Given the description of an element on the screen output the (x, y) to click on. 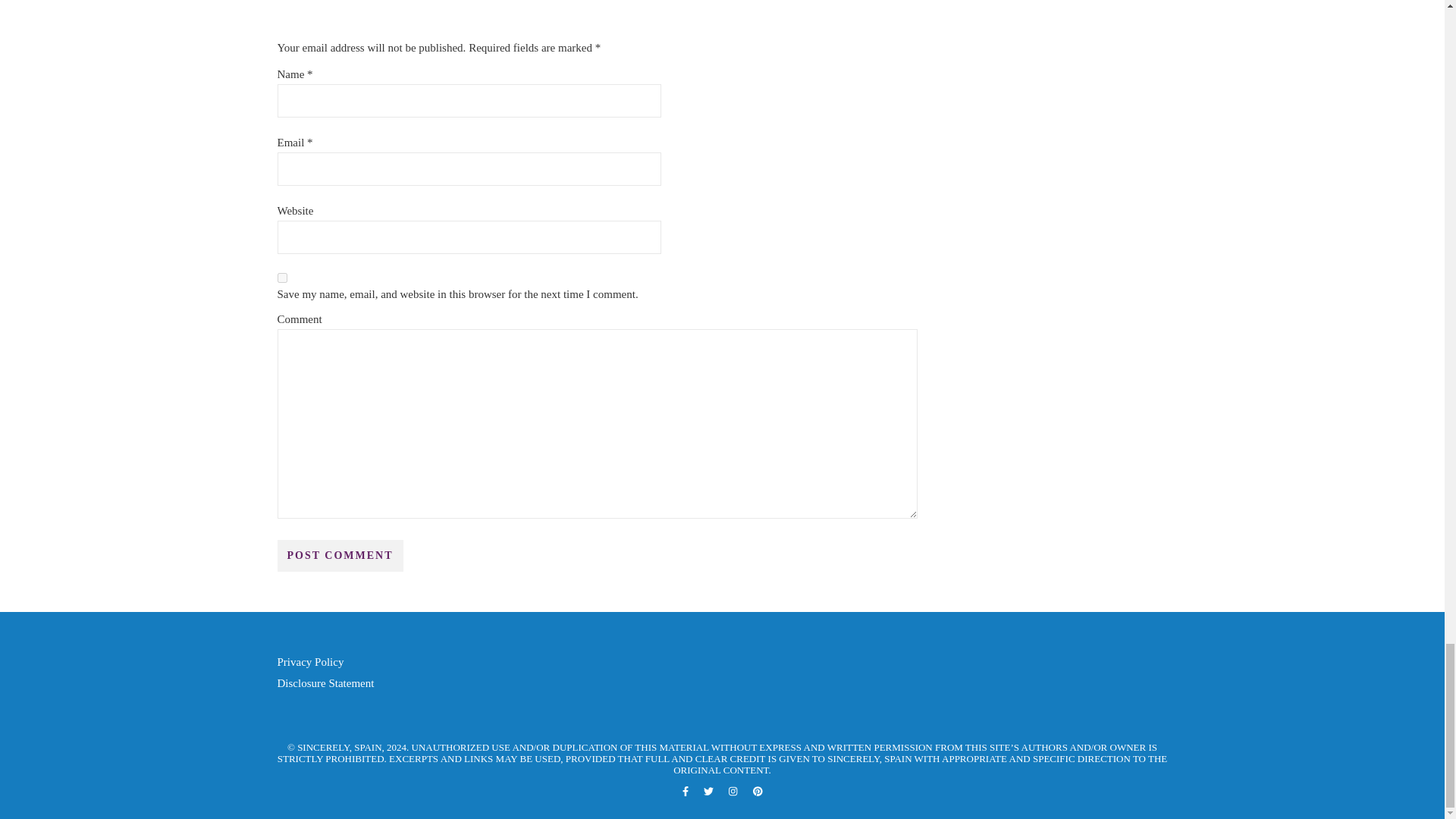
yes (282, 277)
Post Comment (340, 555)
